Given the description of an element on the screen output the (x, y) to click on. 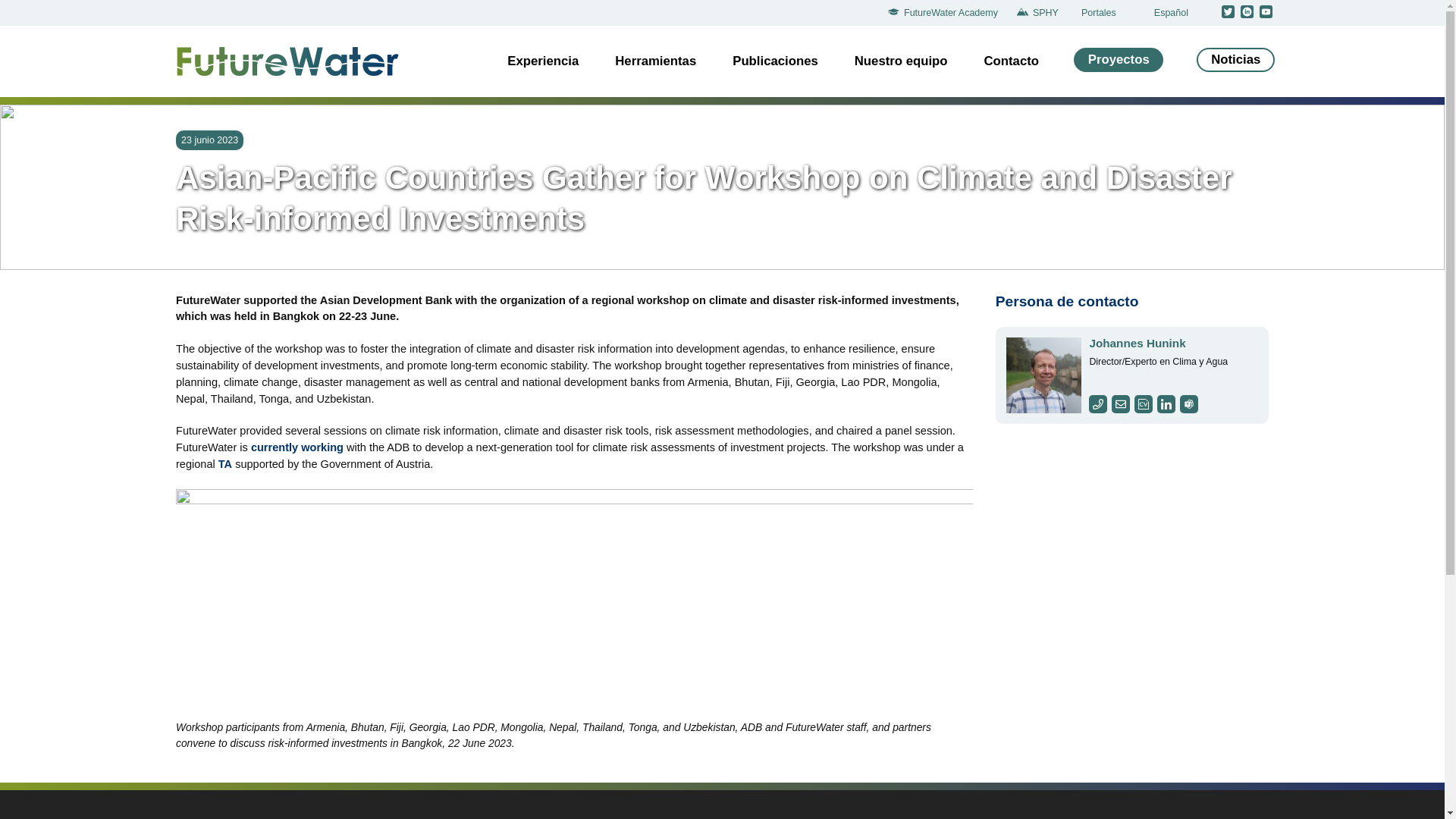
Visite el sitio web de Futurewater Academy (946, 13)
Visite el sitio web de SPHY (1040, 13)
